Given the description of an element on the screen output the (x, y) to click on. 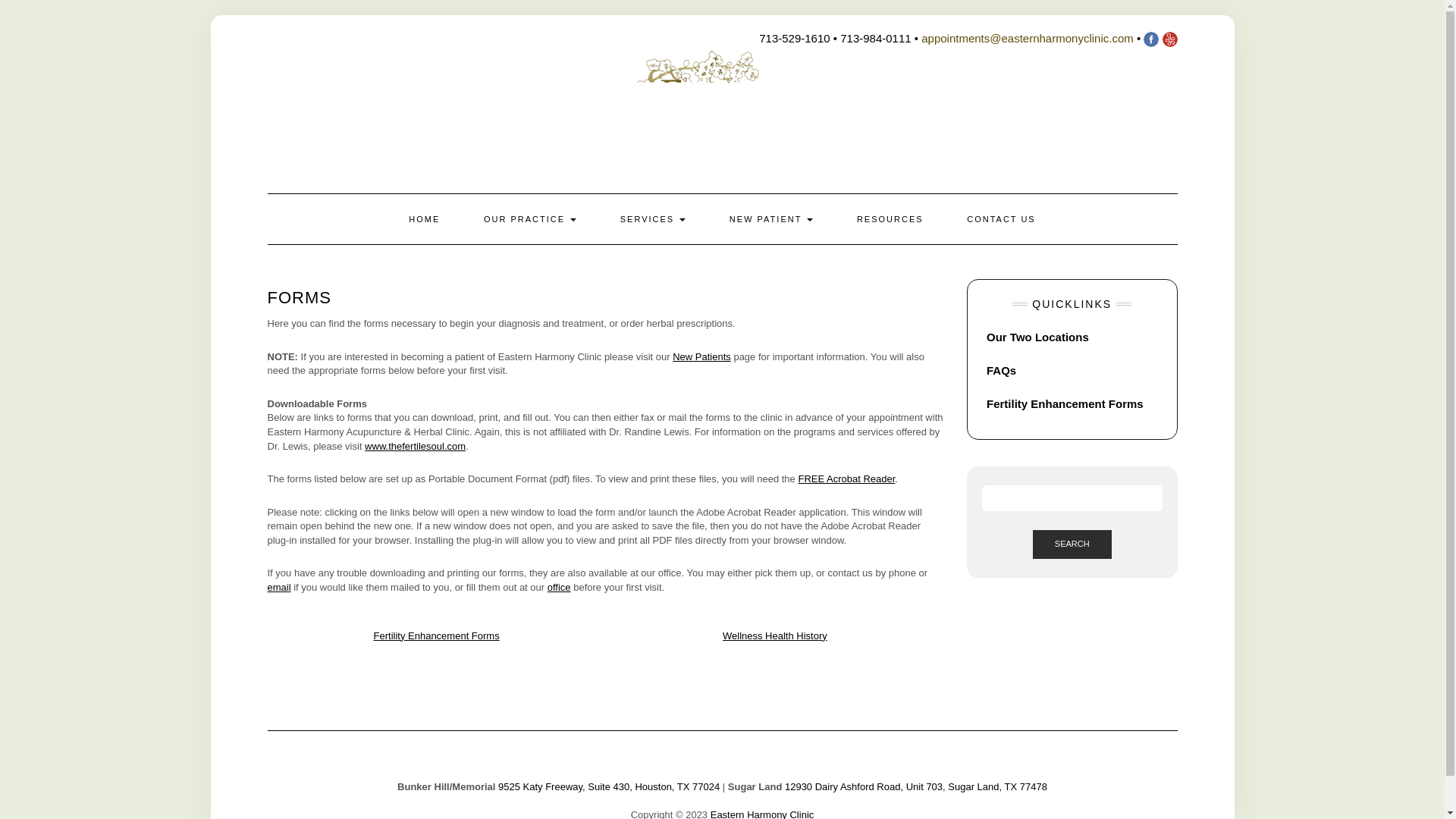
CONTACT US (1001, 219)
yelp (1168, 38)
email us (1027, 38)
office (558, 586)
FREE Acrobat Reader (846, 478)
NEW PATIENT (770, 219)
HOME (424, 219)
facebook (1150, 38)
RESOURCES (889, 219)
Fertility Enhancement Forms (436, 634)
SERVICES (652, 219)
Wellness Health History (774, 634)
email (277, 586)
www.thefertilesoul.com (415, 446)
New Patients (701, 356)
